Given the description of an element on the screen output the (x, y) to click on. 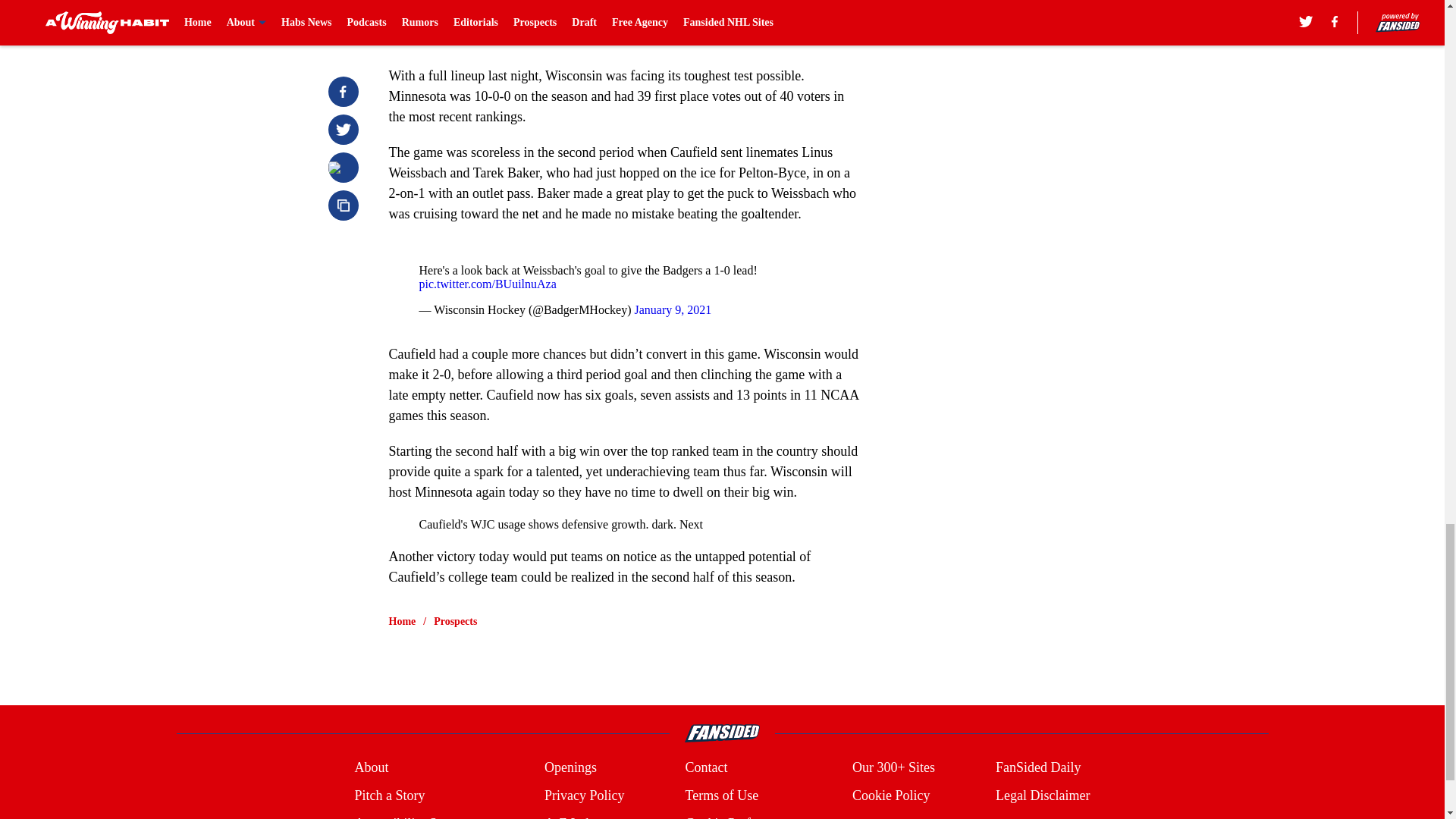
Cookie Preferences (737, 816)
Home (401, 621)
FanSided Daily (1038, 767)
Cookie Policy (890, 795)
Legal Disclaimer (1042, 795)
A-Z Index (572, 816)
Prospects (455, 621)
Terms of Use (721, 795)
About (370, 767)
Privacy Policy (584, 795)
